Given the description of an element on the screen output the (x, y) to click on. 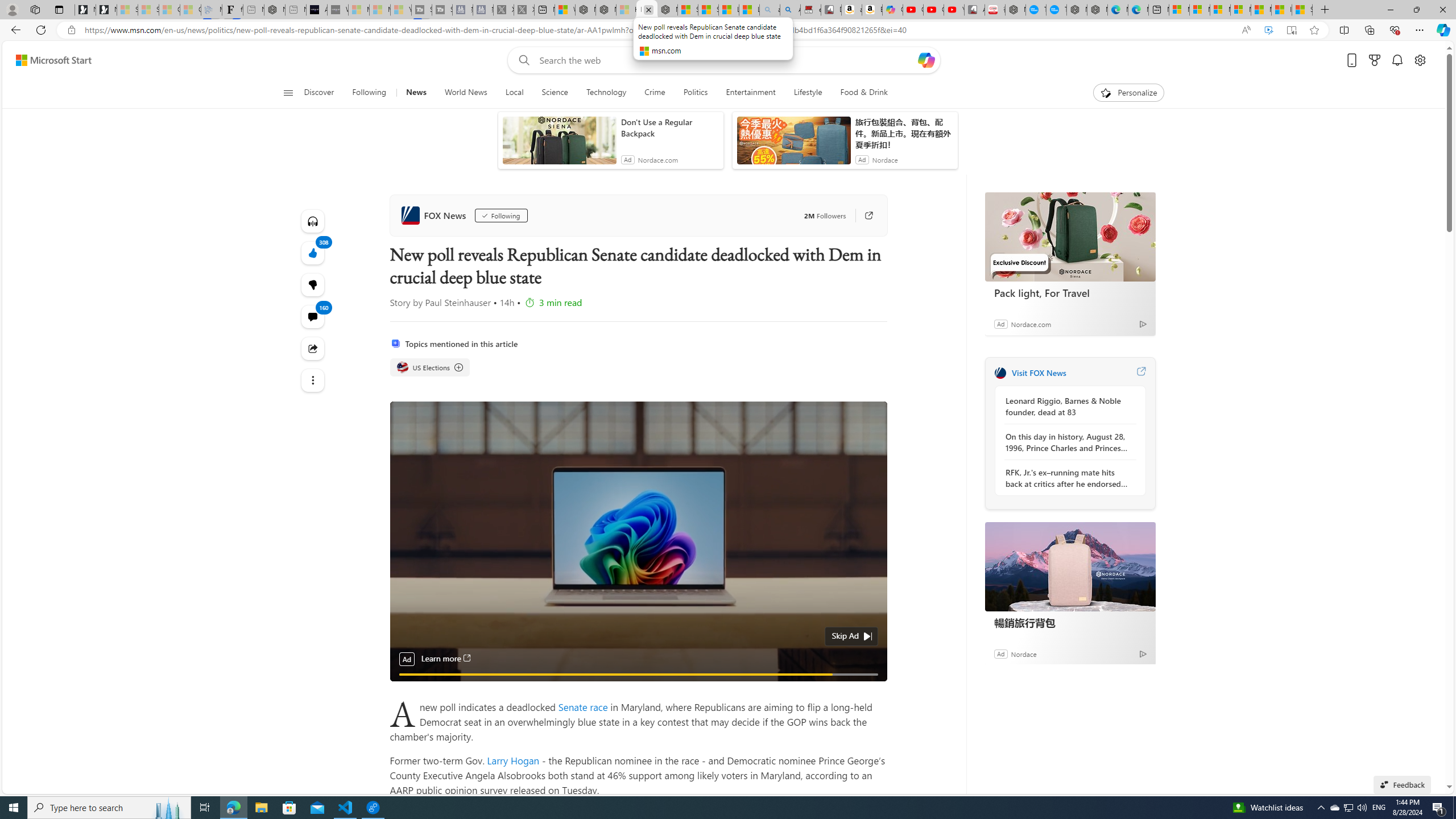
Enter your search term (726, 59)
Crime (654, 92)
More like this308Fewer like thisView comments (312, 284)
Lifestyle (807, 92)
What's the best AI voice generator? - voice.ai - Sleeping (337, 9)
US Elections (401, 367)
